Given the description of an element on the screen output the (x, y) to click on. 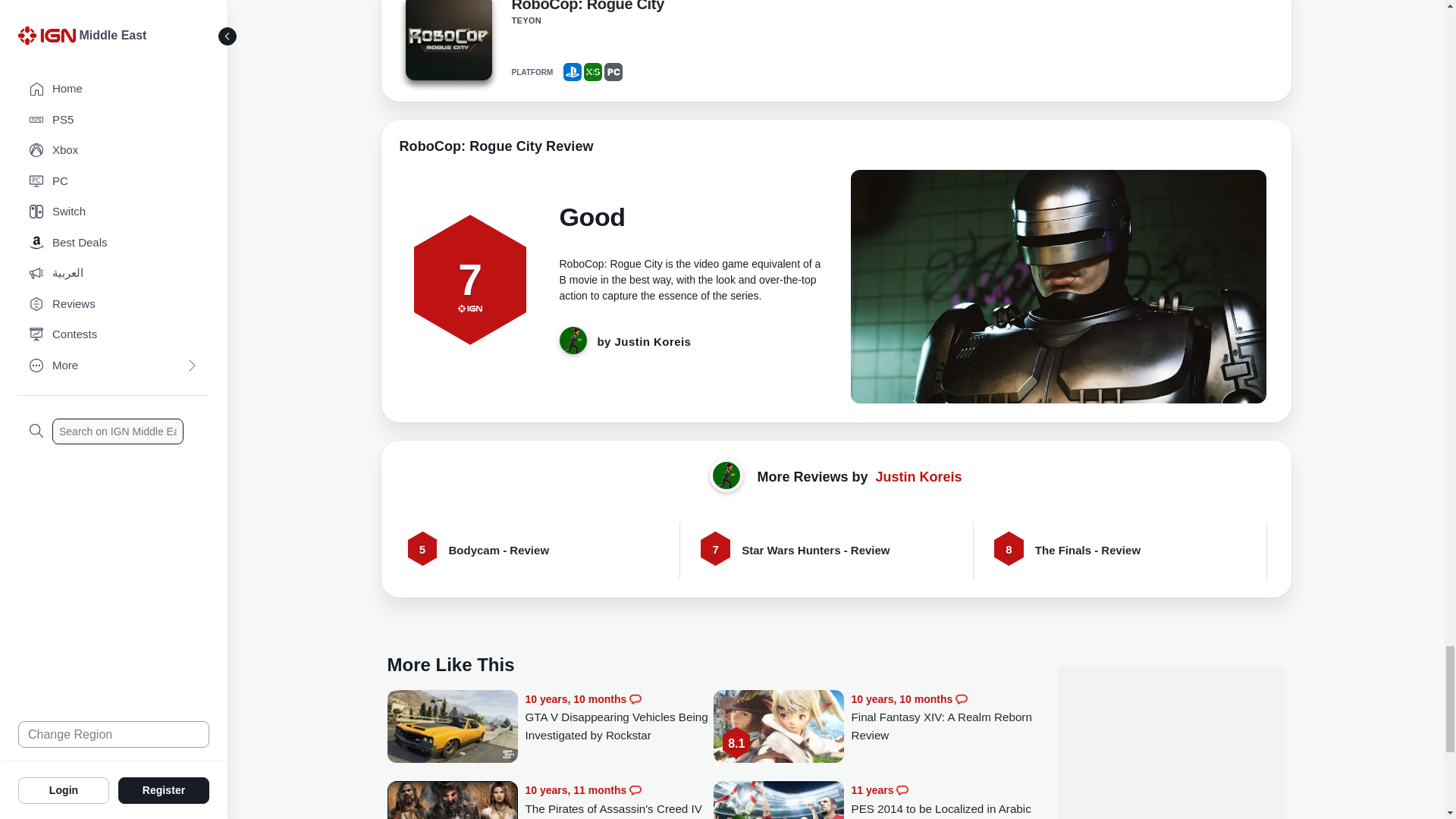
PES 2014 to be Localized in Arabic (778, 800)
The Pirates of Assassin's Creed IV (618, 799)
Final Fantasy XIV: A Realm Reborn Review (778, 728)
PS5 (571, 72)
PC (613, 72)
The Pirates of Assassin's Creed IV (451, 800)
GTA V Disappearing Vehicles Being Investigated by Rockstar (618, 717)
XBOXSERIES (592, 72)
Final Fantasy XIV: A Realm Reborn Review (944, 717)
RoboCop: Rogue City (448, 42)
